Given the description of an element on the screen output the (x, y) to click on. 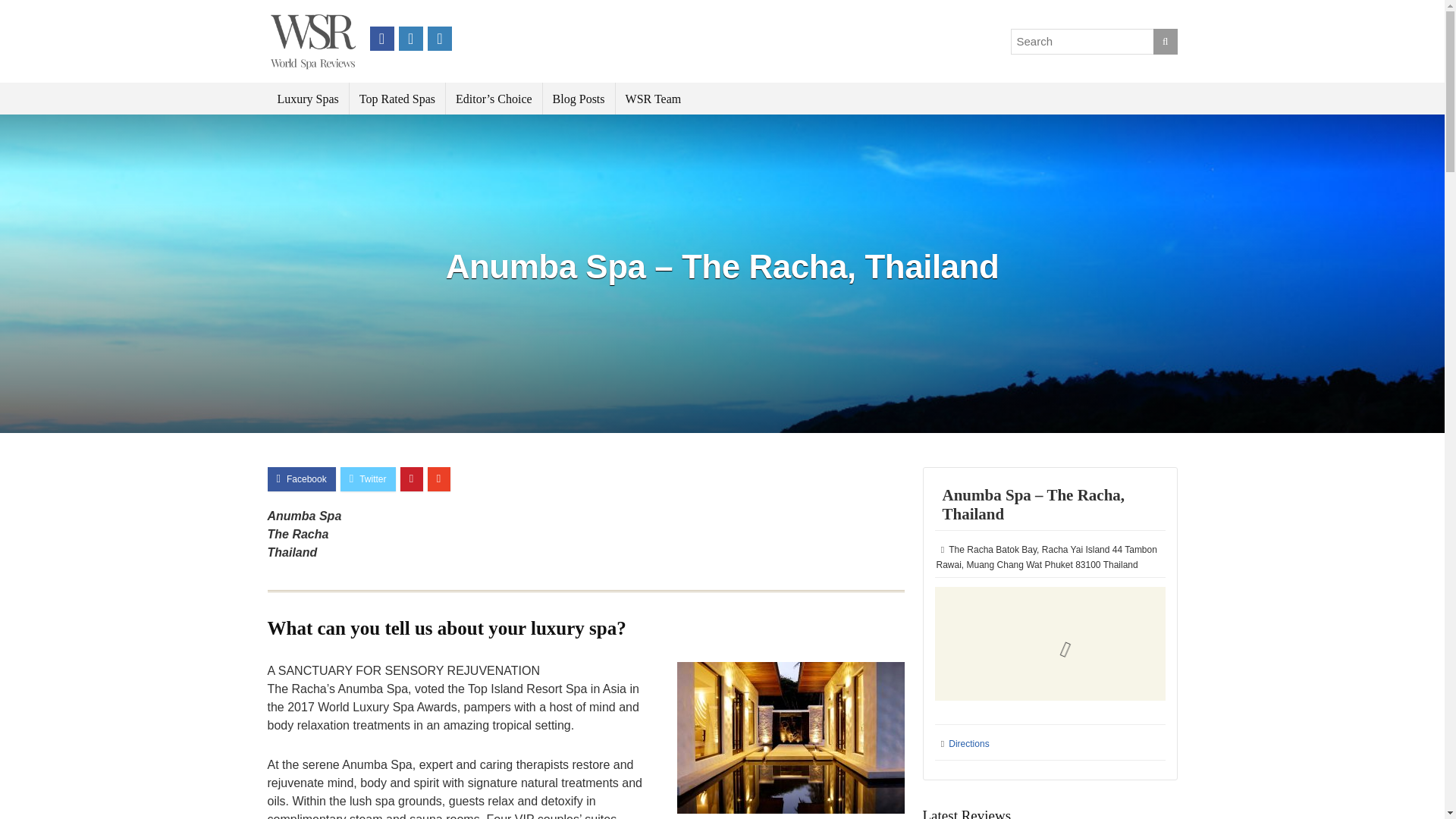
WSR Team (653, 98)
Blog Posts (578, 98)
Top Rated Spas (397, 98)
Directions (968, 743)
Luxury Spas (306, 98)
